Given the description of an element on the screen output the (x, y) to click on. 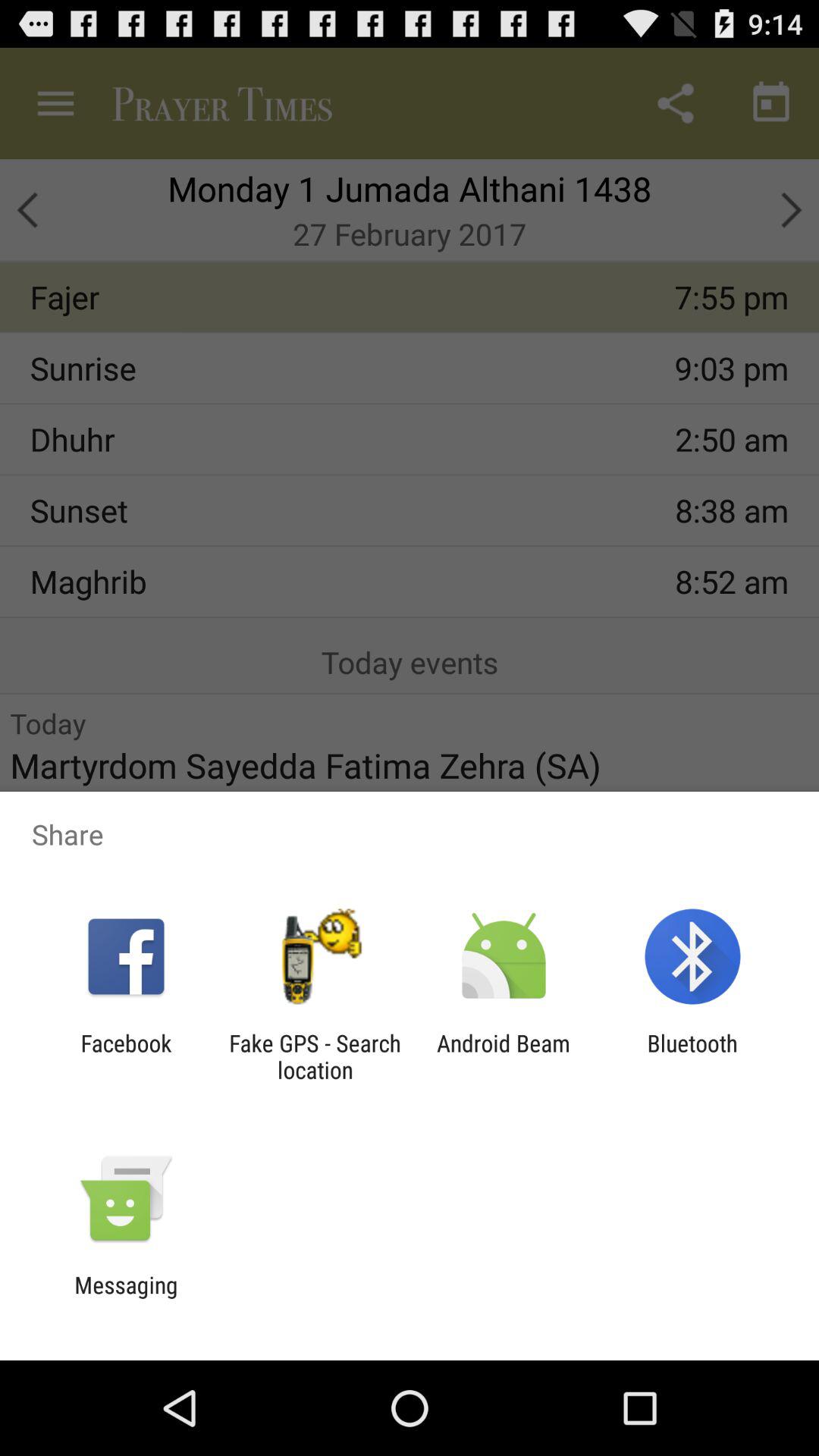
tap messaging item (126, 1298)
